Given the description of an element on the screen output the (x, y) to click on. 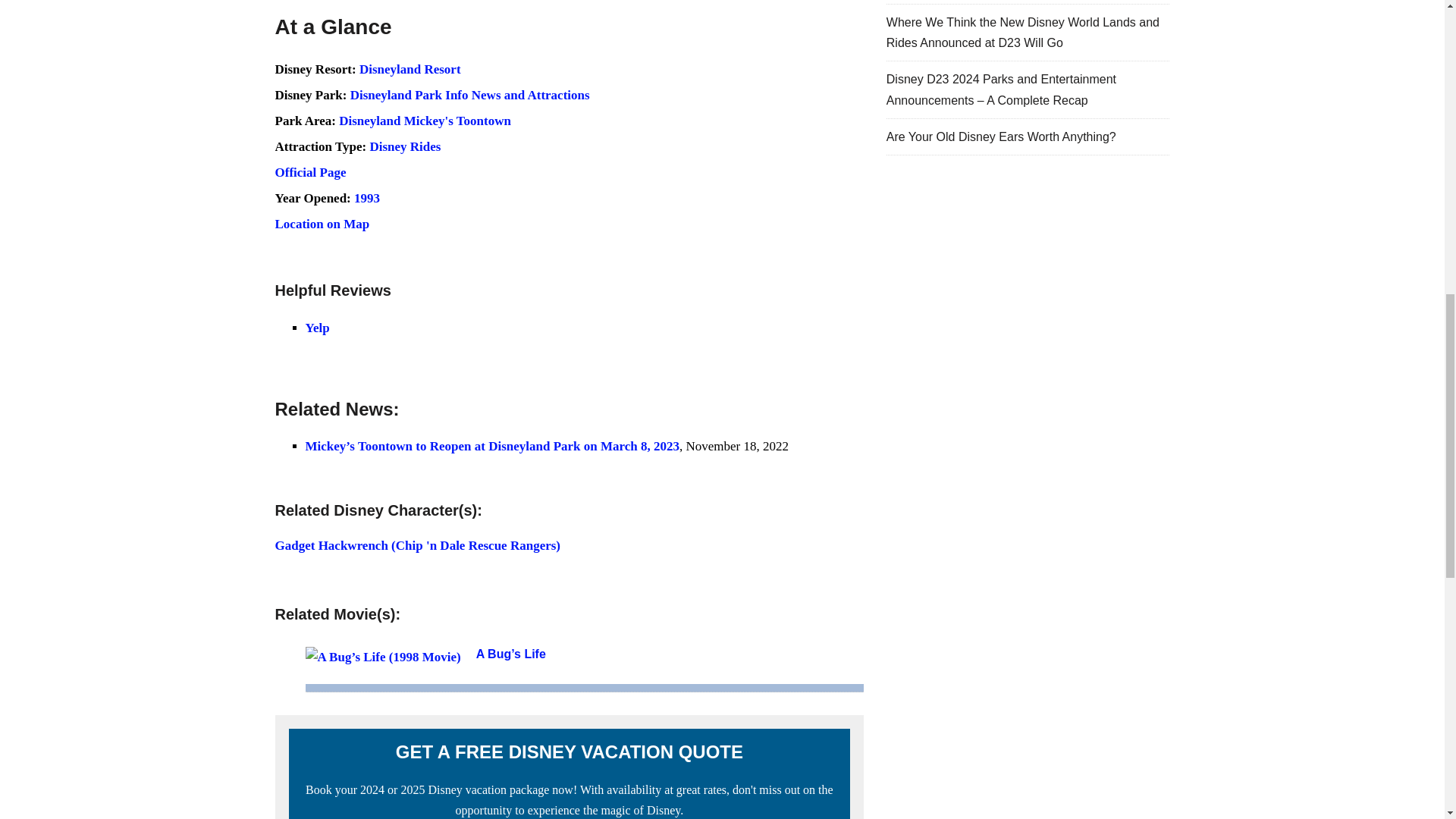
1993 (366, 197)
Location on Map (322, 223)
Disneyland Park Info News and Attractions (469, 94)
Official Page (310, 172)
Yelp (316, 327)
Disneyland Resort (410, 69)
GET A FREE DISNEY VACATION QUOTE (569, 752)
Disney Rides (405, 146)
Disneyland Mickey's Toontown (425, 120)
